Given the description of an element on the screen output the (x, y) to click on. 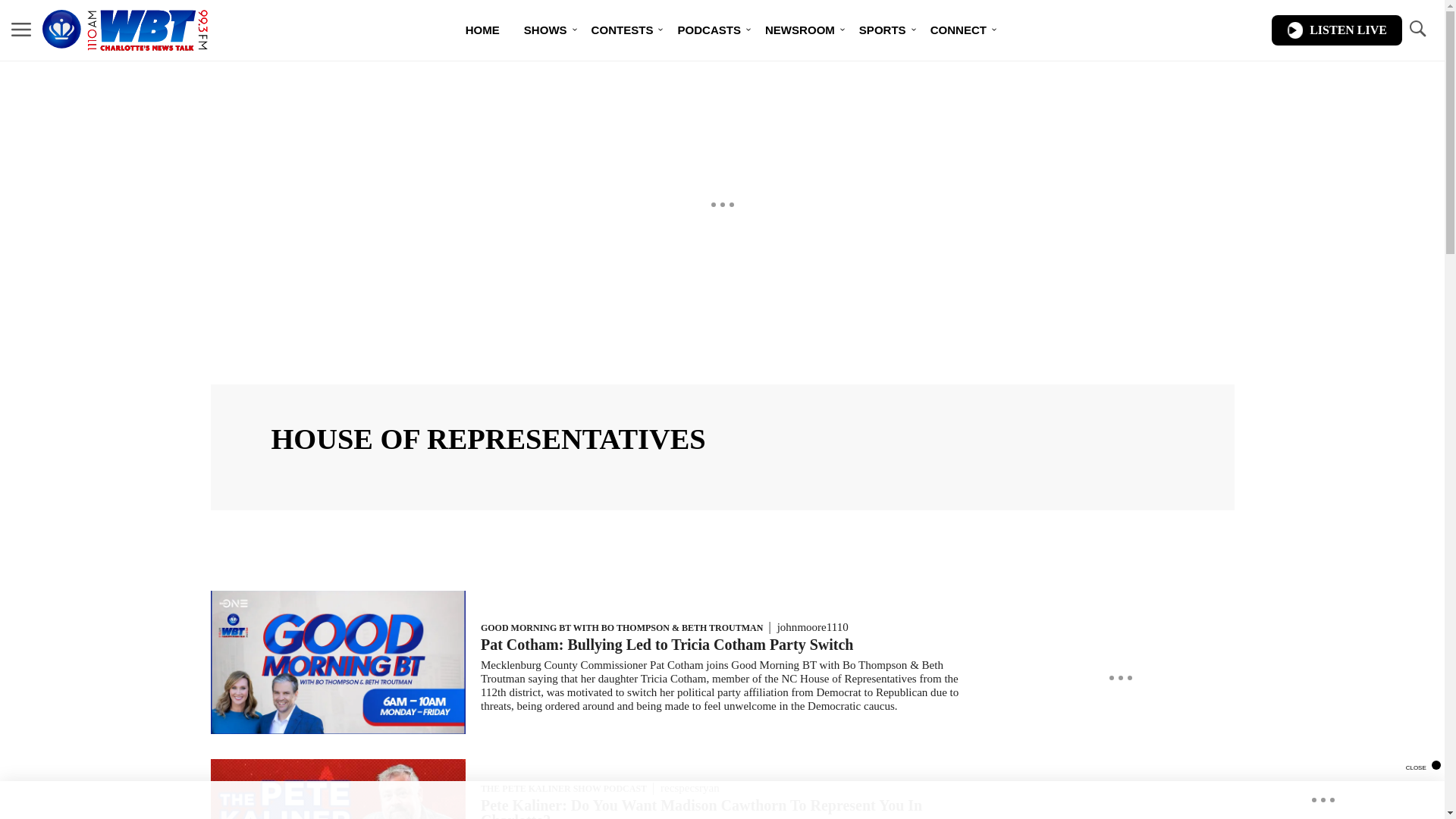
SHOWS (545, 30)
HOME (482, 30)
CONNECT (958, 30)
MENU (20, 29)
CONTESTS (622, 30)
TOGGLE SEARCH (1417, 28)
NEWSROOM (799, 30)
MENU (20, 30)
SPORTS (882, 30)
PODCASTS (708, 30)
